Given the description of an element on the screen output the (x, y) to click on. 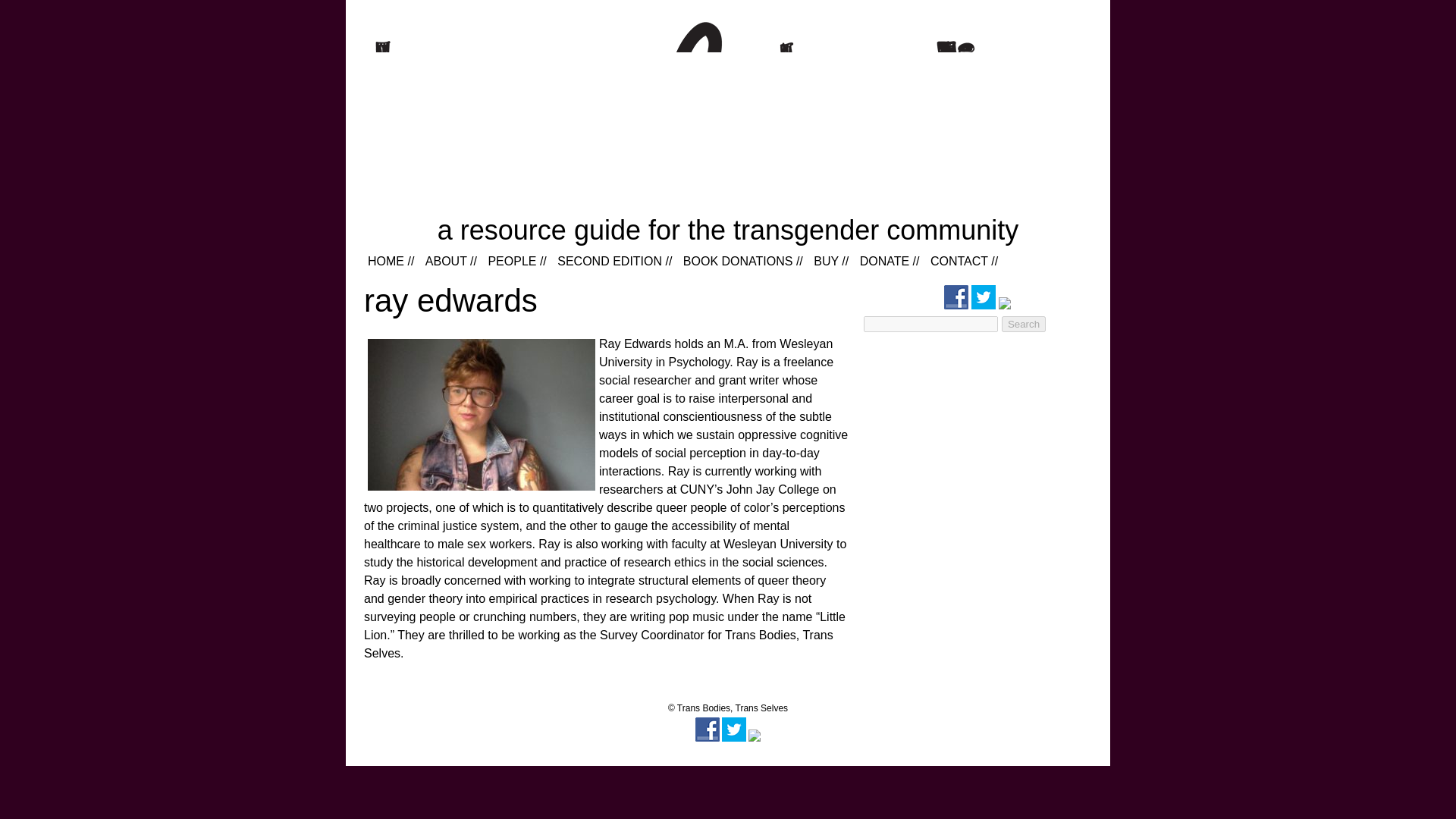
ray edwards (450, 300)
Permanent Link to Ray Edwards (450, 300)
